Given the description of an element on the screen output the (x, y) to click on. 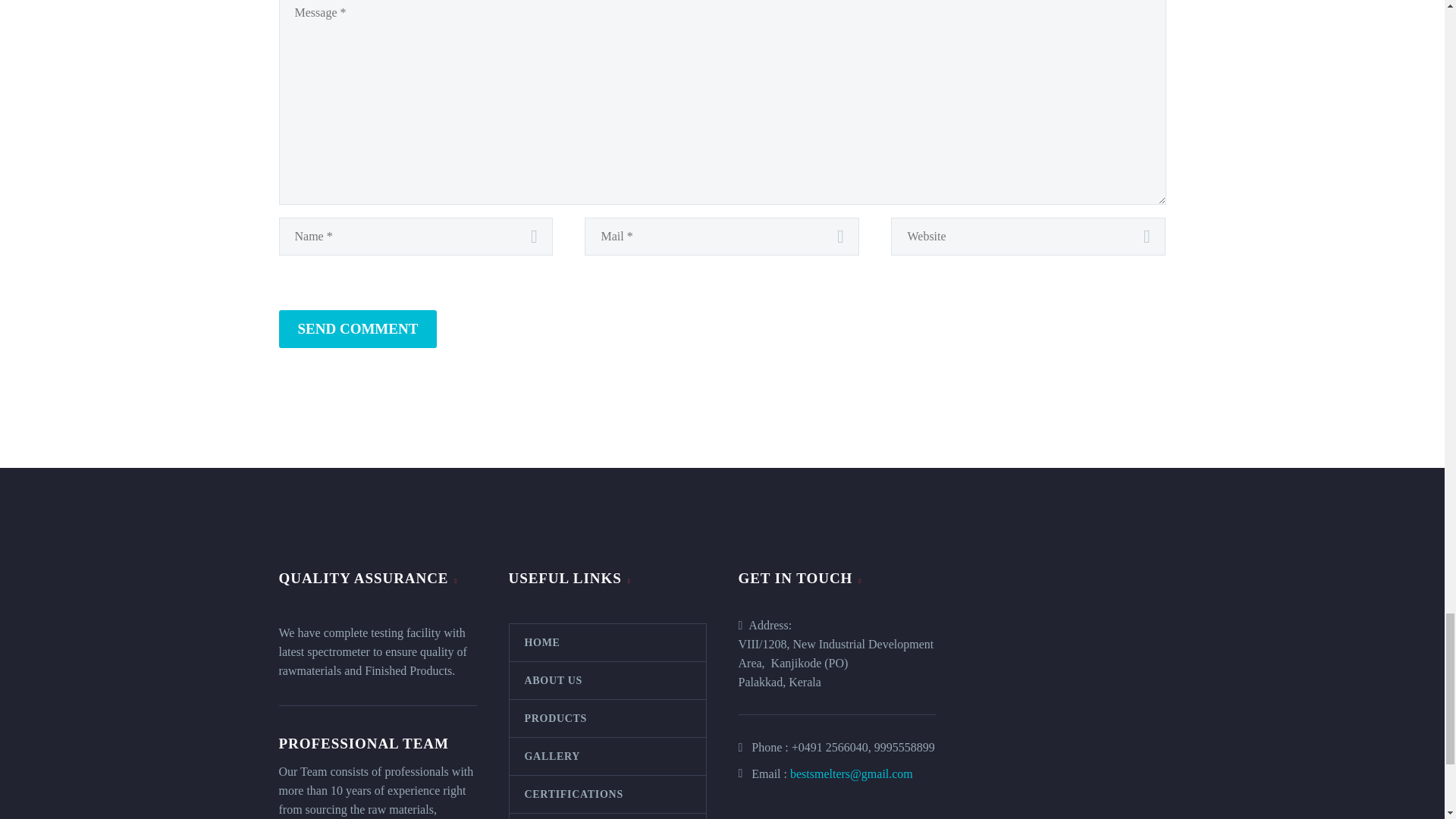
SEND COMMENT (358, 329)
ENQUIRY (607, 816)
CERTIFICATIONS (607, 794)
GALLERY (607, 755)
HOME (607, 642)
ABOUT US (607, 680)
PRODUCTS (607, 718)
